Given the description of an element on the screen output the (x, y) to click on. 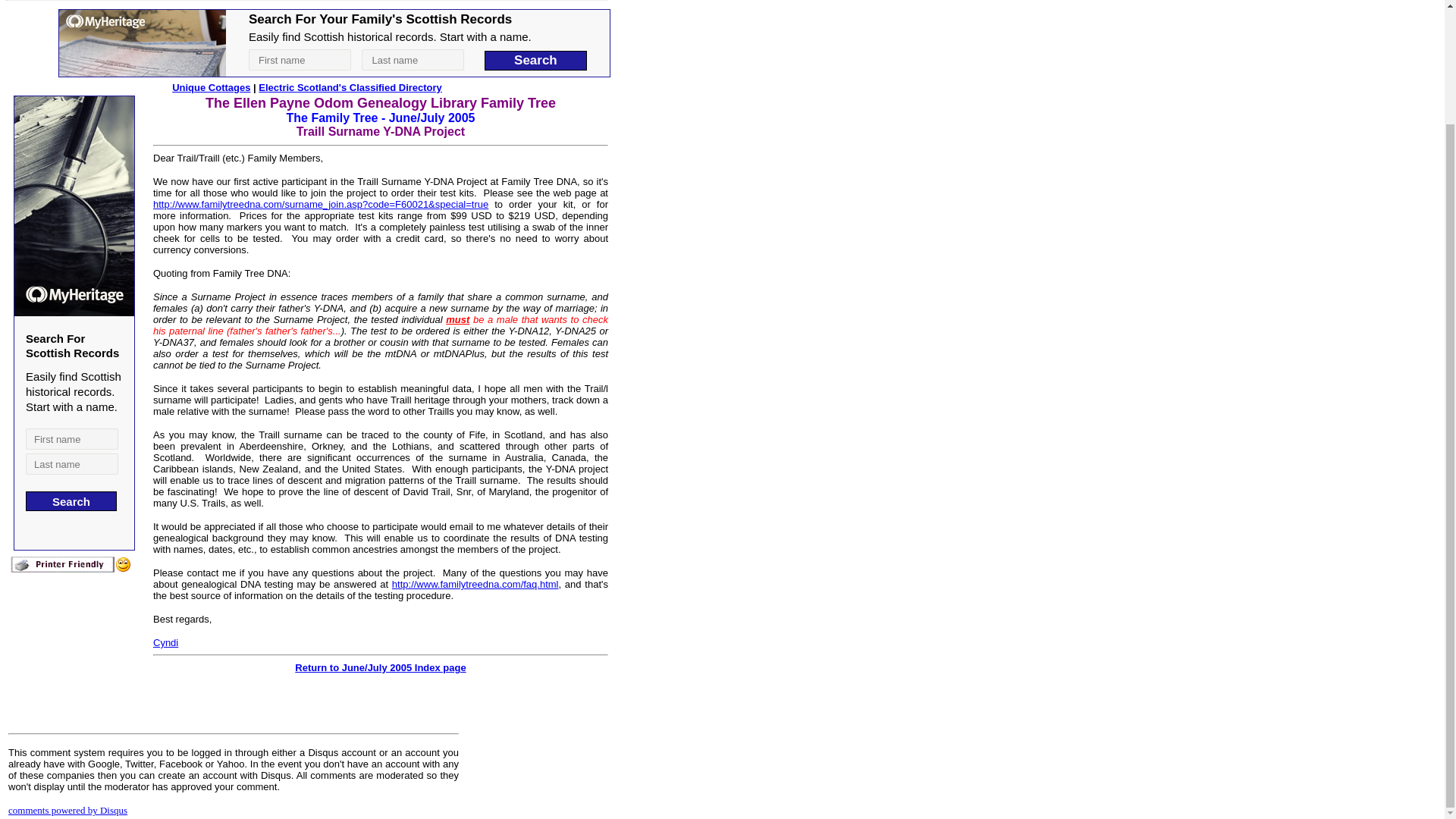
advertisement (334, 42)
Electric Scotland's Classified Directory (350, 87)
comments powered by Disqus (68, 809)
Unique Cottages (210, 87)
Cyndi (164, 642)
